Given the description of an element on the screen output the (x, y) to click on. 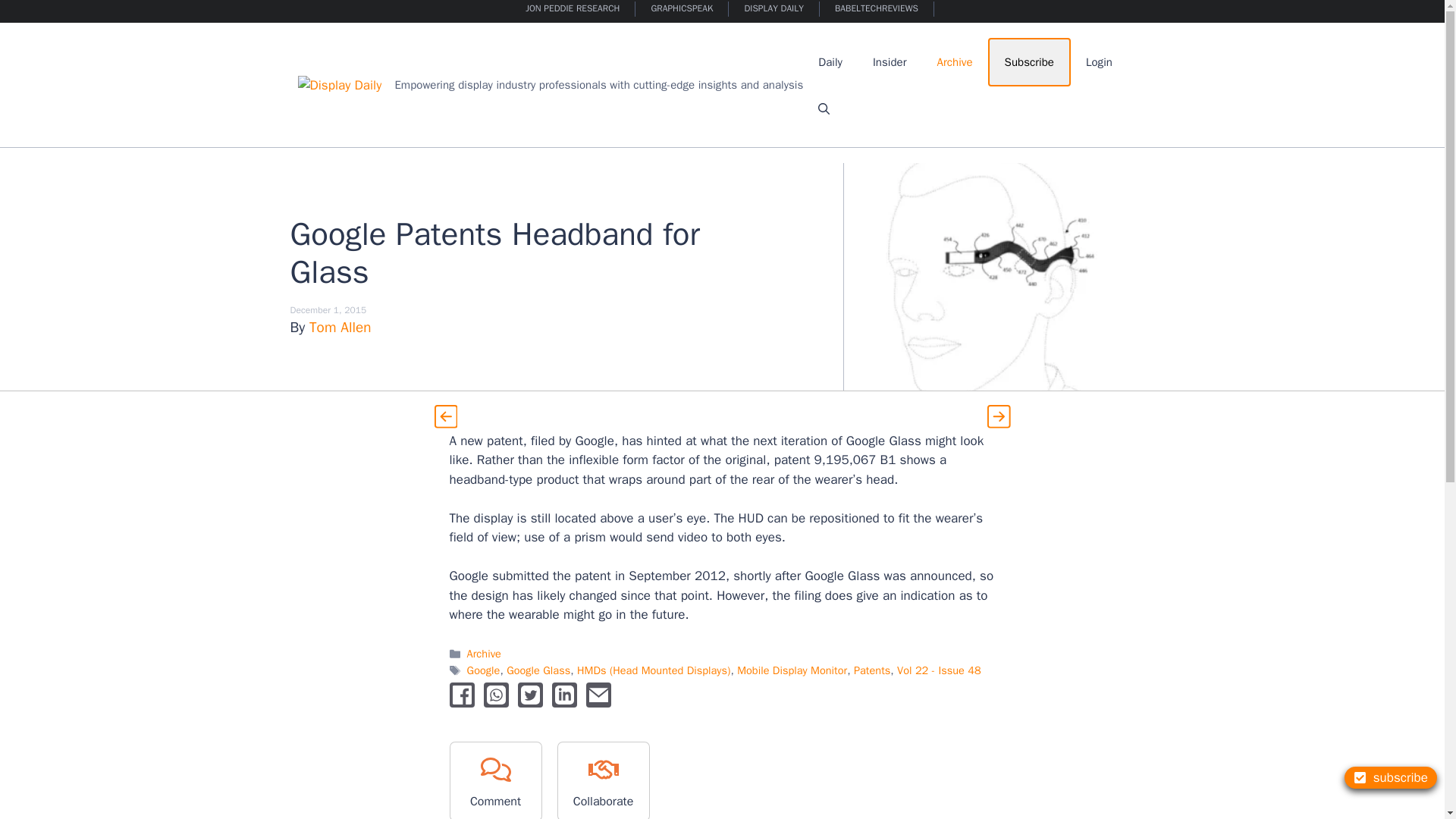
Mobile Display Monitor (791, 670)
Archive (483, 653)
DISPLAY DAILY (773, 8)
subscribe (1390, 776)
Google Glass (538, 670)
GRAPHICSPEAK (681, 8)
Login (1098, 62)
Patents (871, 670)
Vol 22 - Issue 48 (938, 670)
Daily (830, 62)
Archive (954, 62)
Insider (889, 62)
Subscribe (1029, 62)
